Given the description of an element on the screen output the (x, y) to click on. 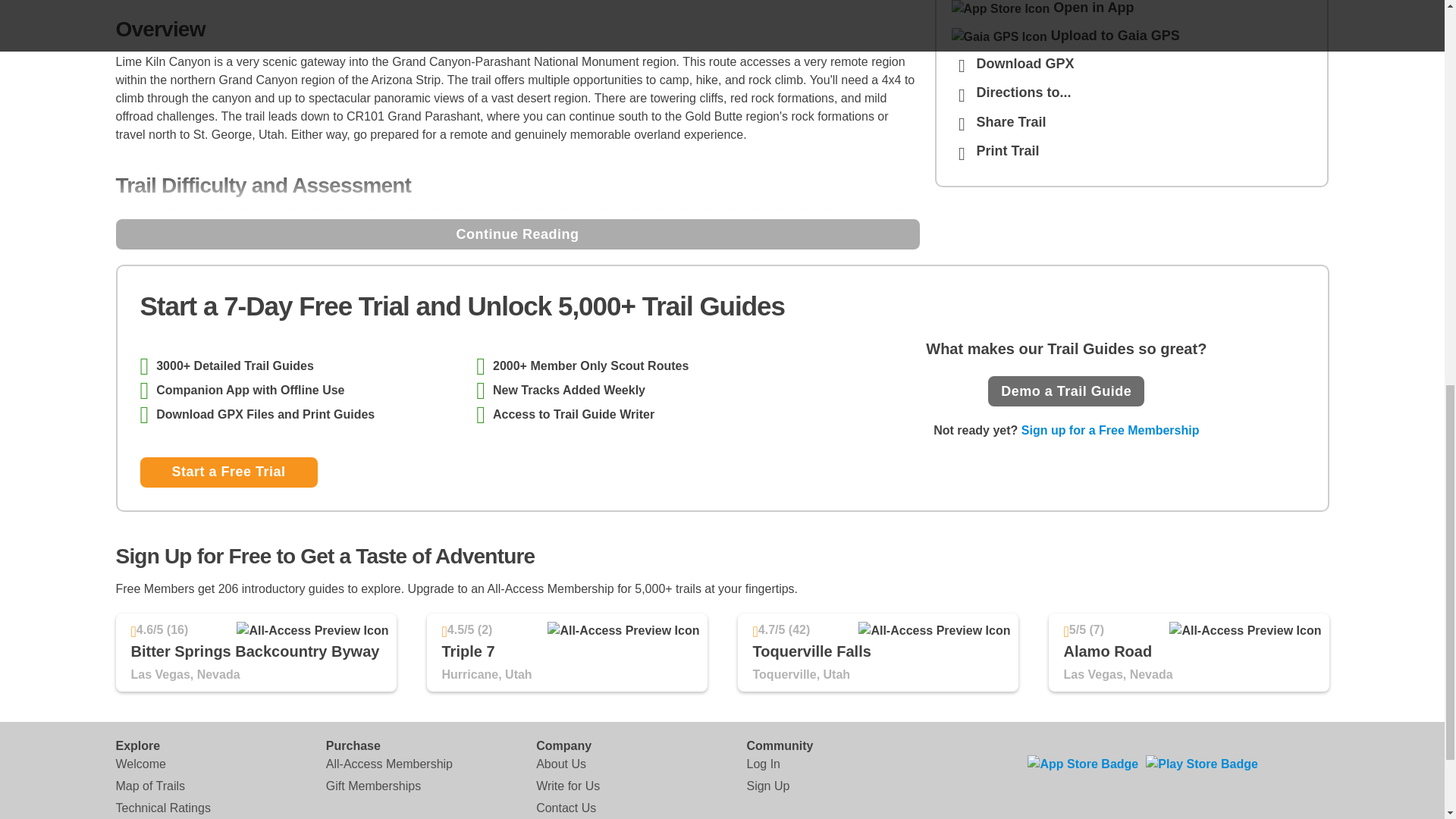
Map of Trails (149, 786)
Welcome (140, 764)
Start a Free Trial (228, 472)
Sign up for a Free Membership (1110, 430)
Demo a Trail Guide (1066, 390)
All-Access Membership (389, 764)
About Us (560, 764)
Continue Reading (516, 234)
Gift Memberships (373, 786)
Write for Us (567, 786)
